Given the description of an element on the screen output the (x, y) to click on. 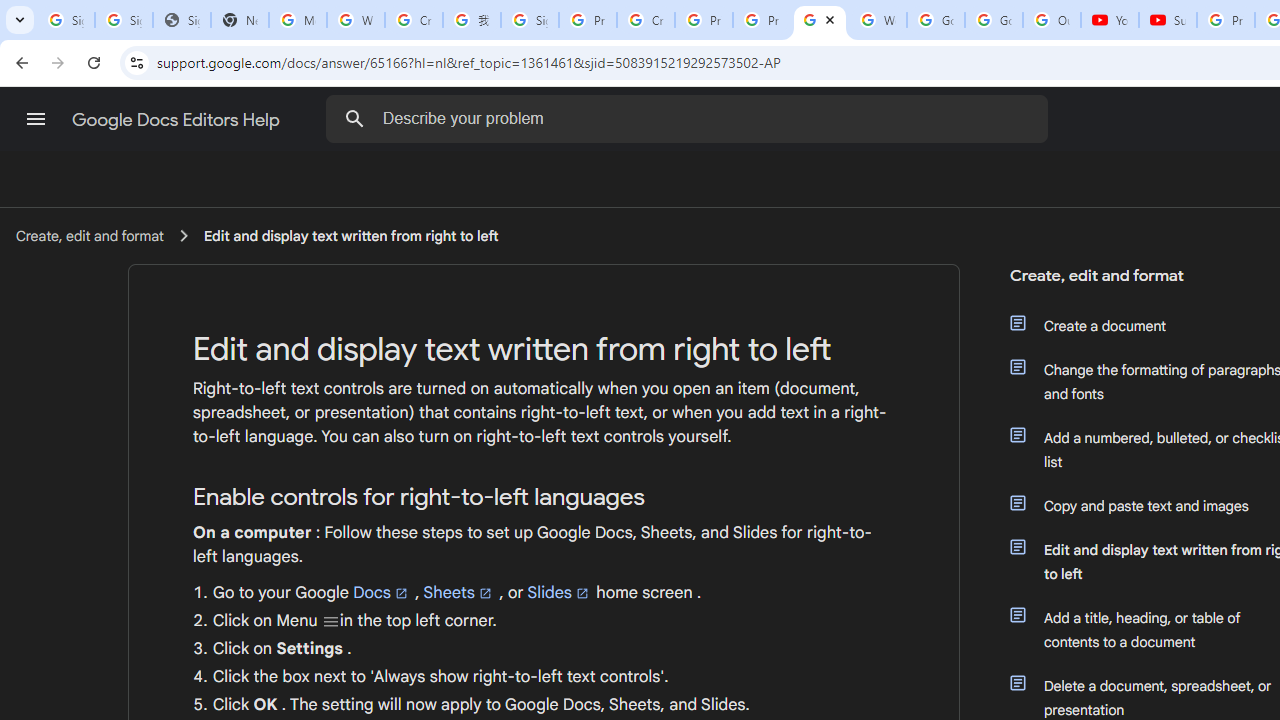
Sheets (459, 593)
Menu (330, 621)
Sign In - USA TODAY (181, 20)
Welcome to My Activity (877, 20)
Slides (559, 593)
Main menu (35, 119)
